Given the description of an element on the screen output the (x, y) to click on. 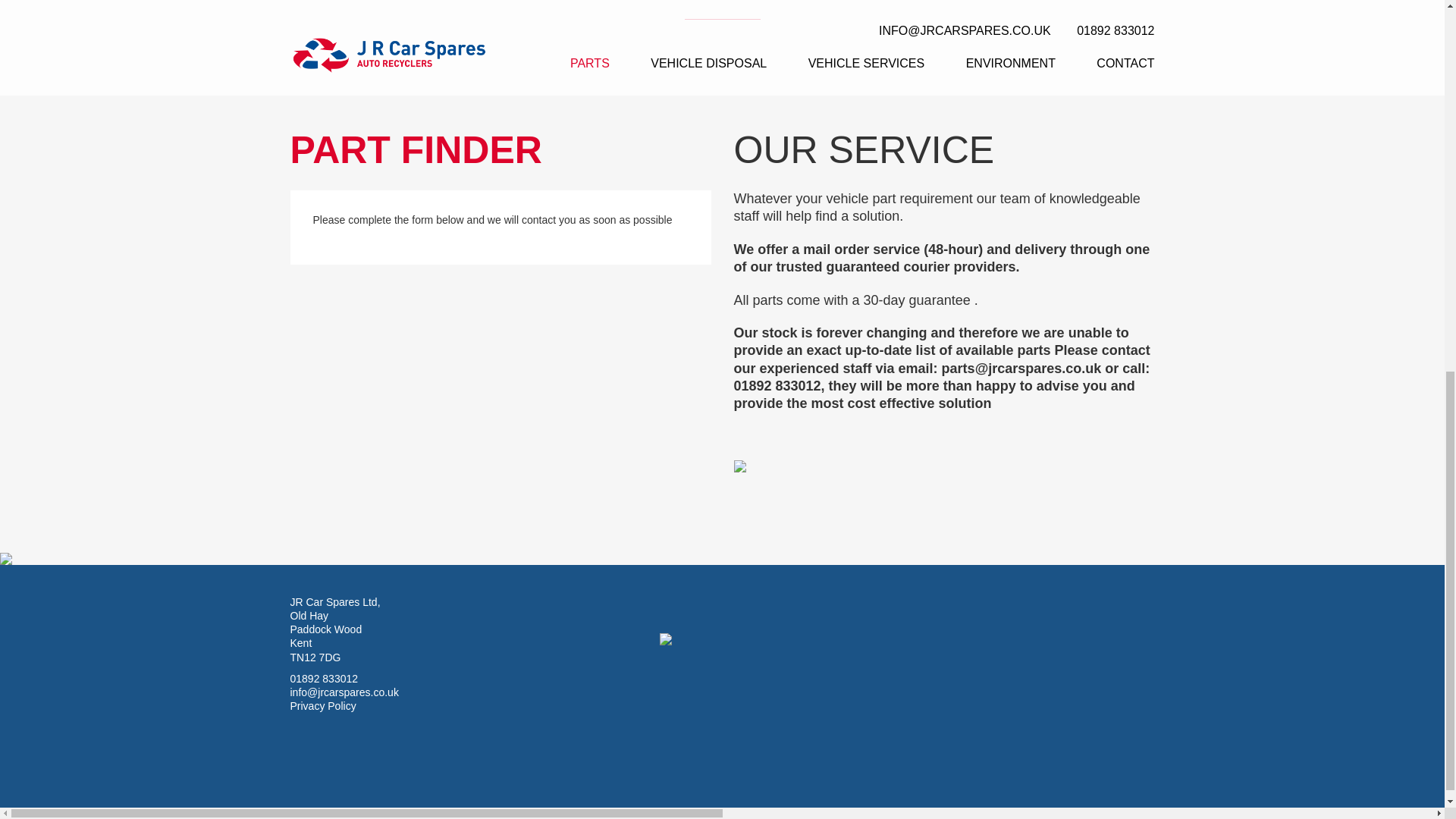
Privacy Policy (322, 705)
